Given the description of an element on the screen output the (x, y) to click on. 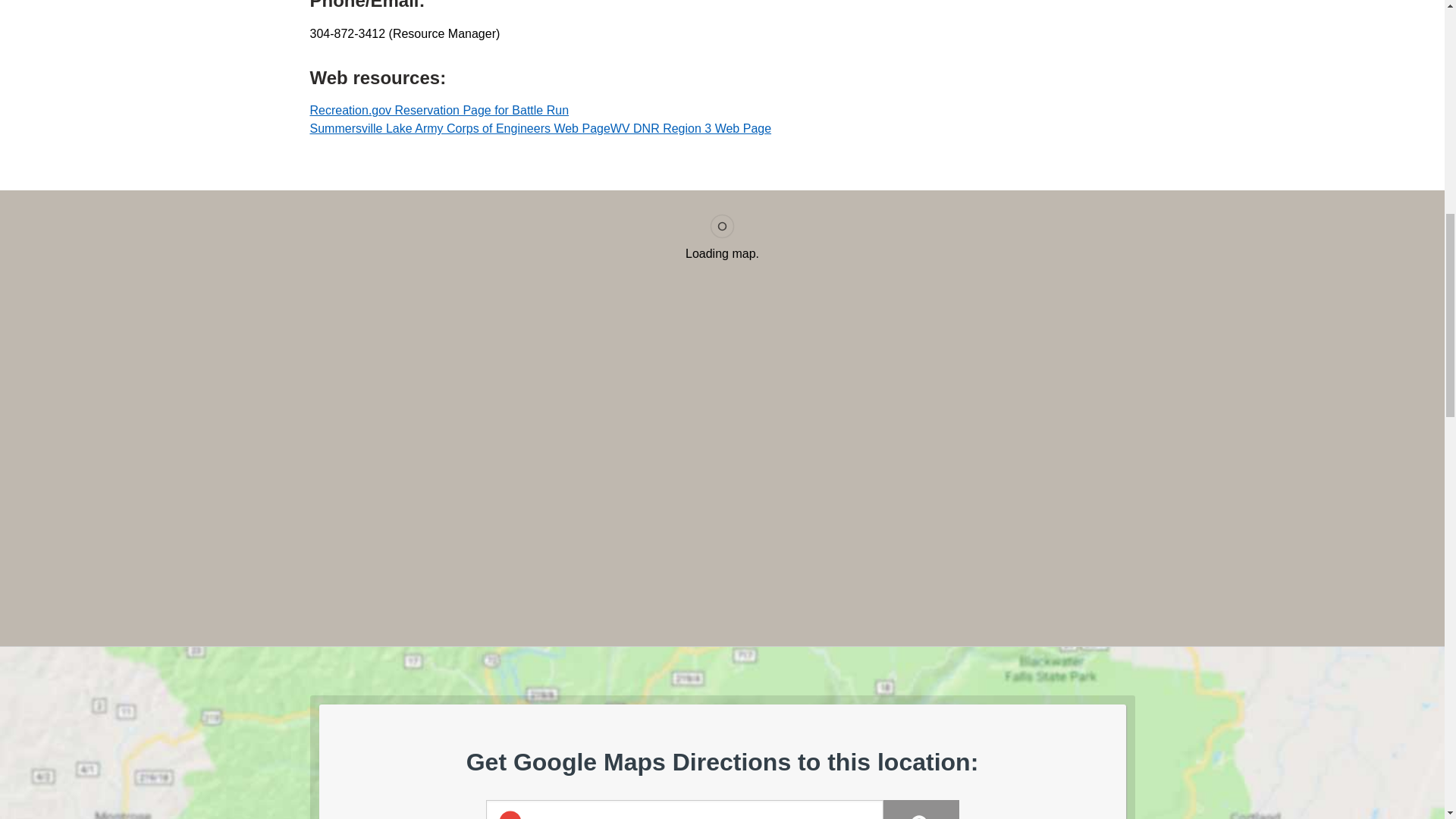
Summersville Lake Army Corps of Engineers Web Page (459, 128)
Get Directions (920, 809)
Recreation.gov Reservation Page for Battle Run (438, 110)
WV DNR Region 3 Web Page (690, 128)
Get Directions (920, 809)
